Given the description of an element on the screen output the (x, y) to click on. 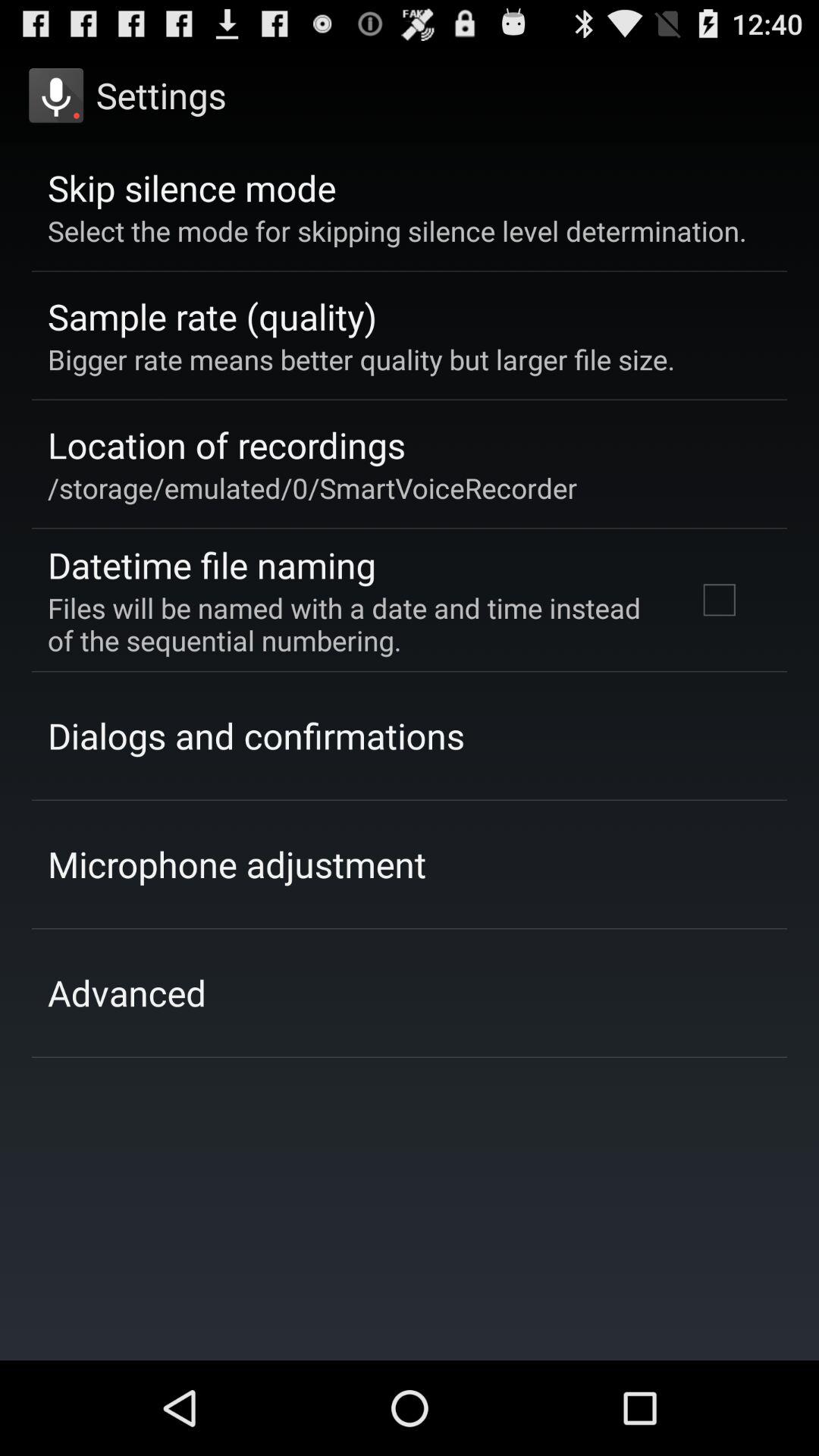
press the files will be app (351, 624)
